Given the description of an element on the screen output the (x, y) to click on. 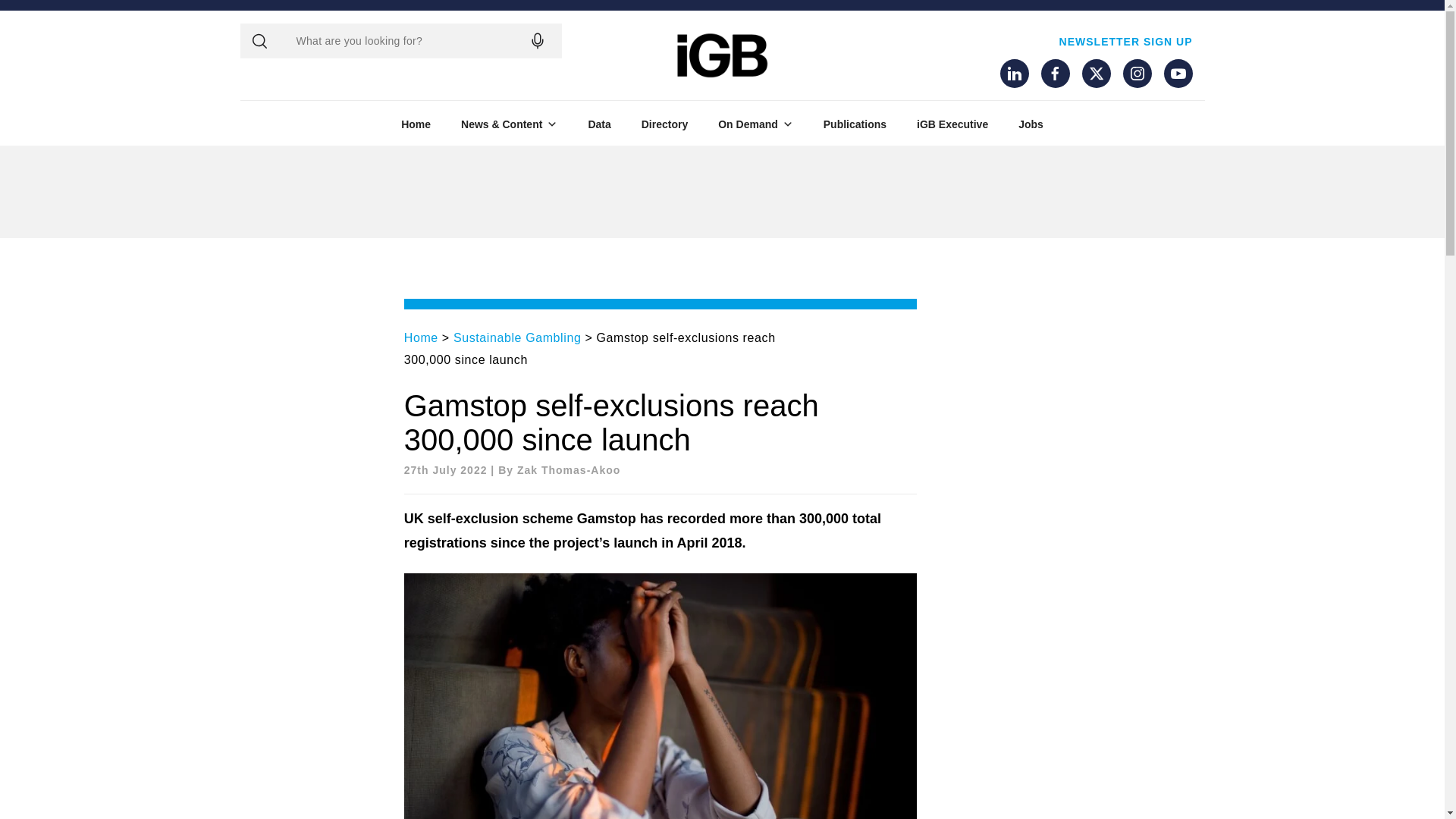
LinkedIn (1012, 72)
Twitter (1095, 72)
Home (415, 124)
3rd party ad content (334, 192)
NEWSLETTER SIGN UP (1125, 41)
3rd party ad content (721, 192)
3rd party ad content (1110, 192)
Instagram (1136, 72)
YouTube (1177, 72)
Facebook (1054, 72)
